Given the description of an element on the screen output the (x, y) to click on. 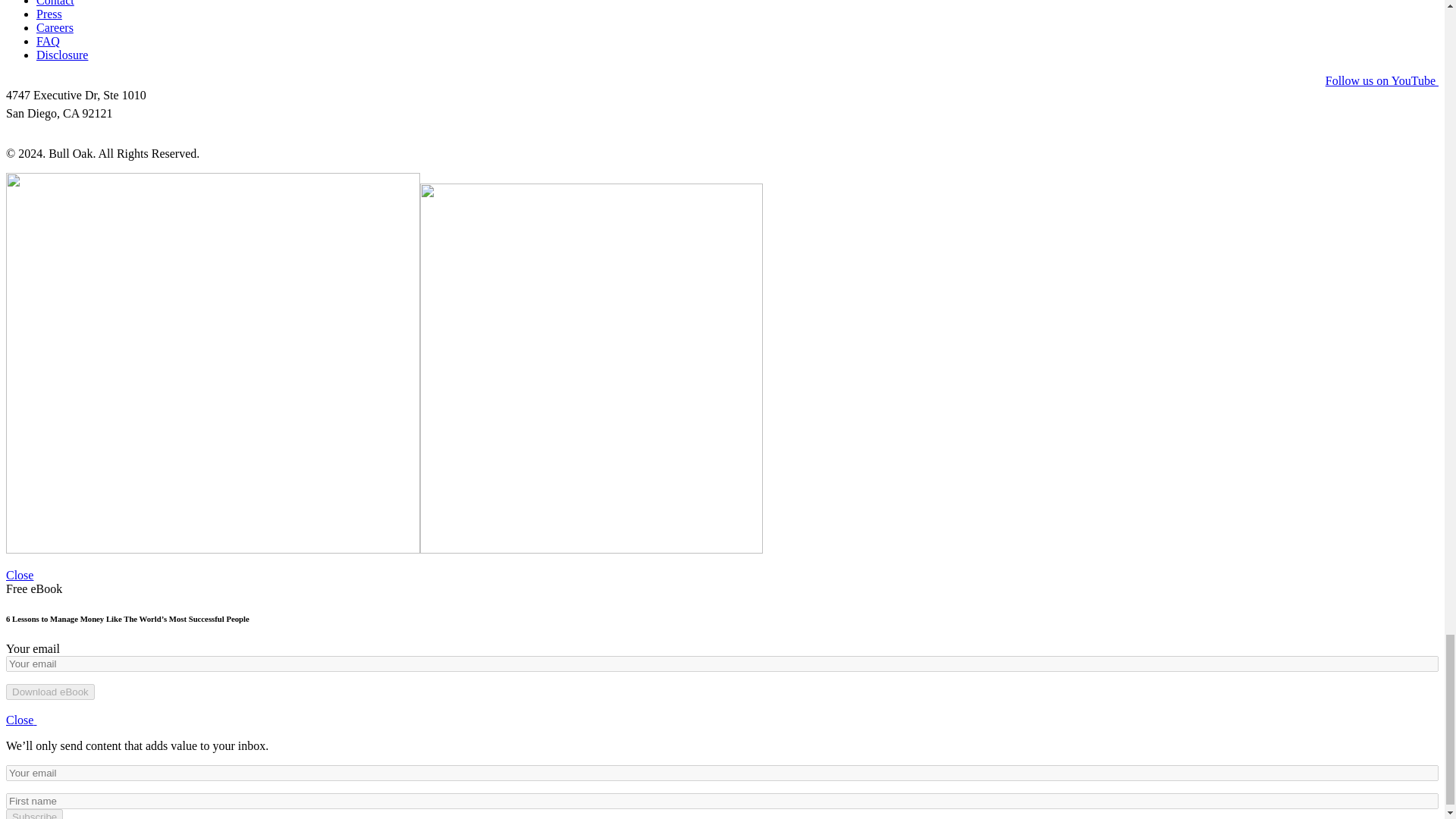
FAQ (47, 41)
Disclosure (61, 54)
Press (49, 13)
Download eBook (49, 691)
Careers (55, 27)
Contact (55, 3)
Close (19, 574)
